Given the description of an element on the screen output the (x, y) to click on. 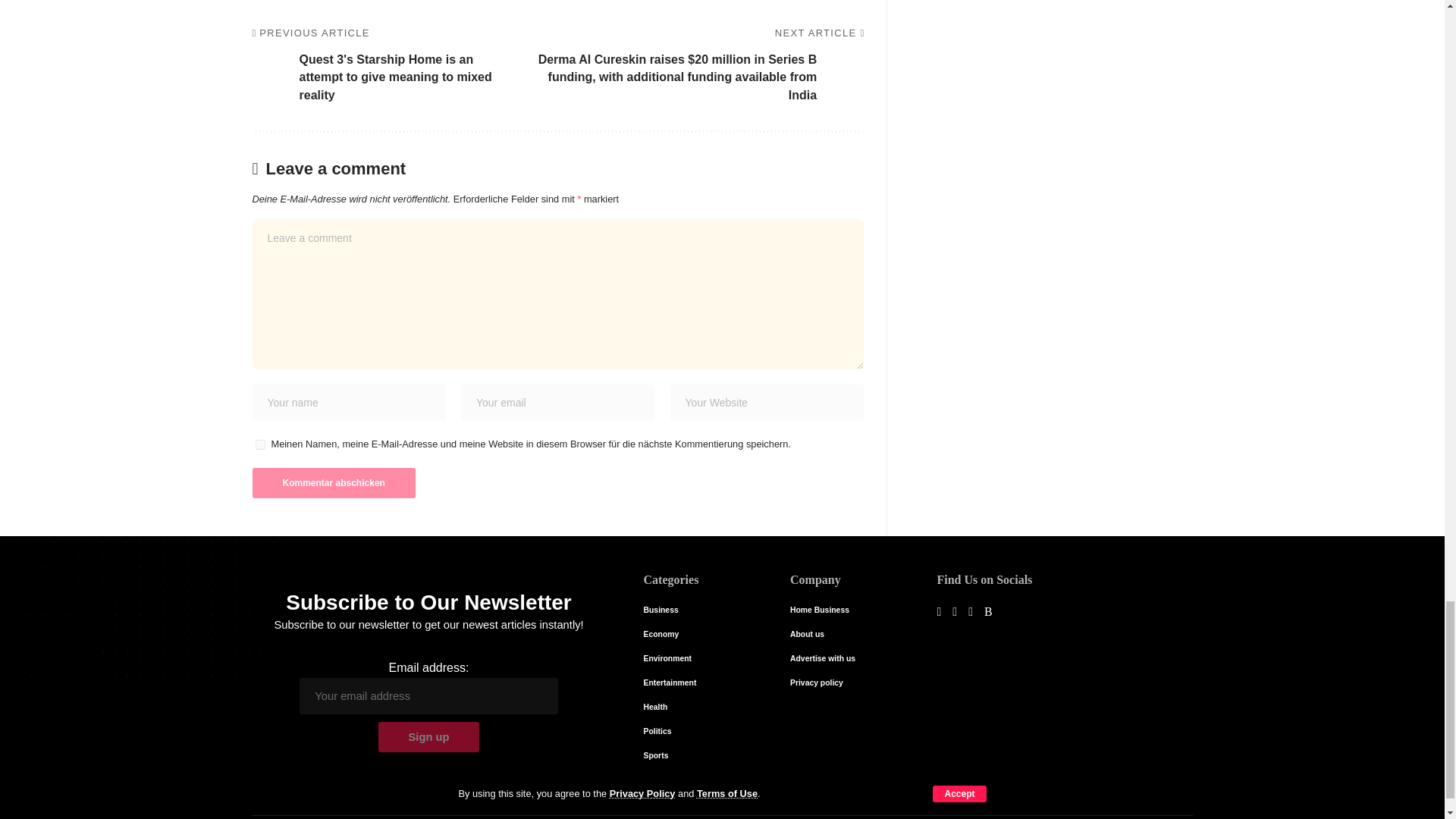
Kommentar abschicken (332, 482)
yes (259, 444)
Sign up (429, 736)
